Given the description of an element on the screen output the (x, y) to click on. 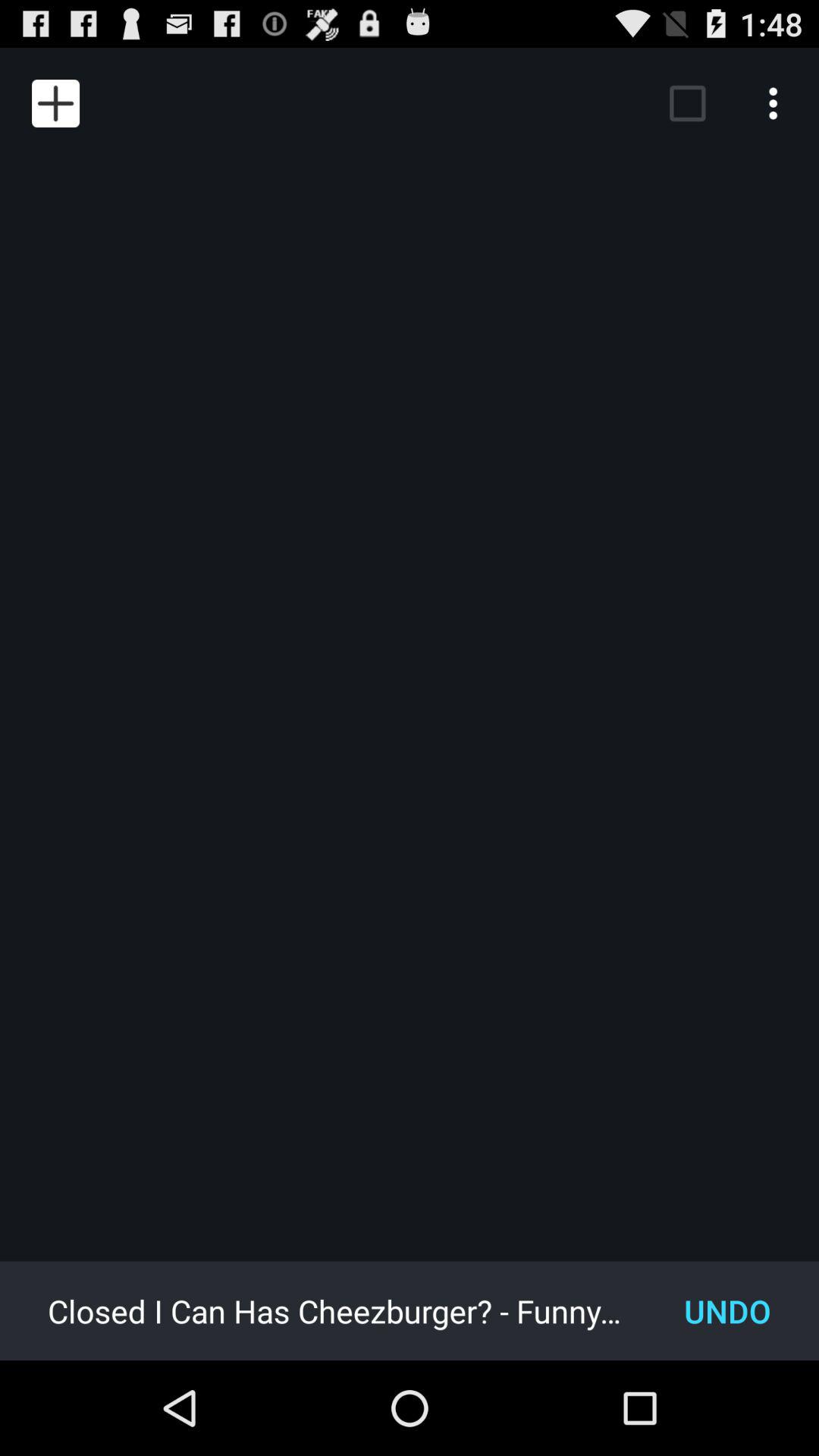
click the undo at the bottom right corner (727, 1310)
